Given the description of an element on the screen output the (x, y) to click on. 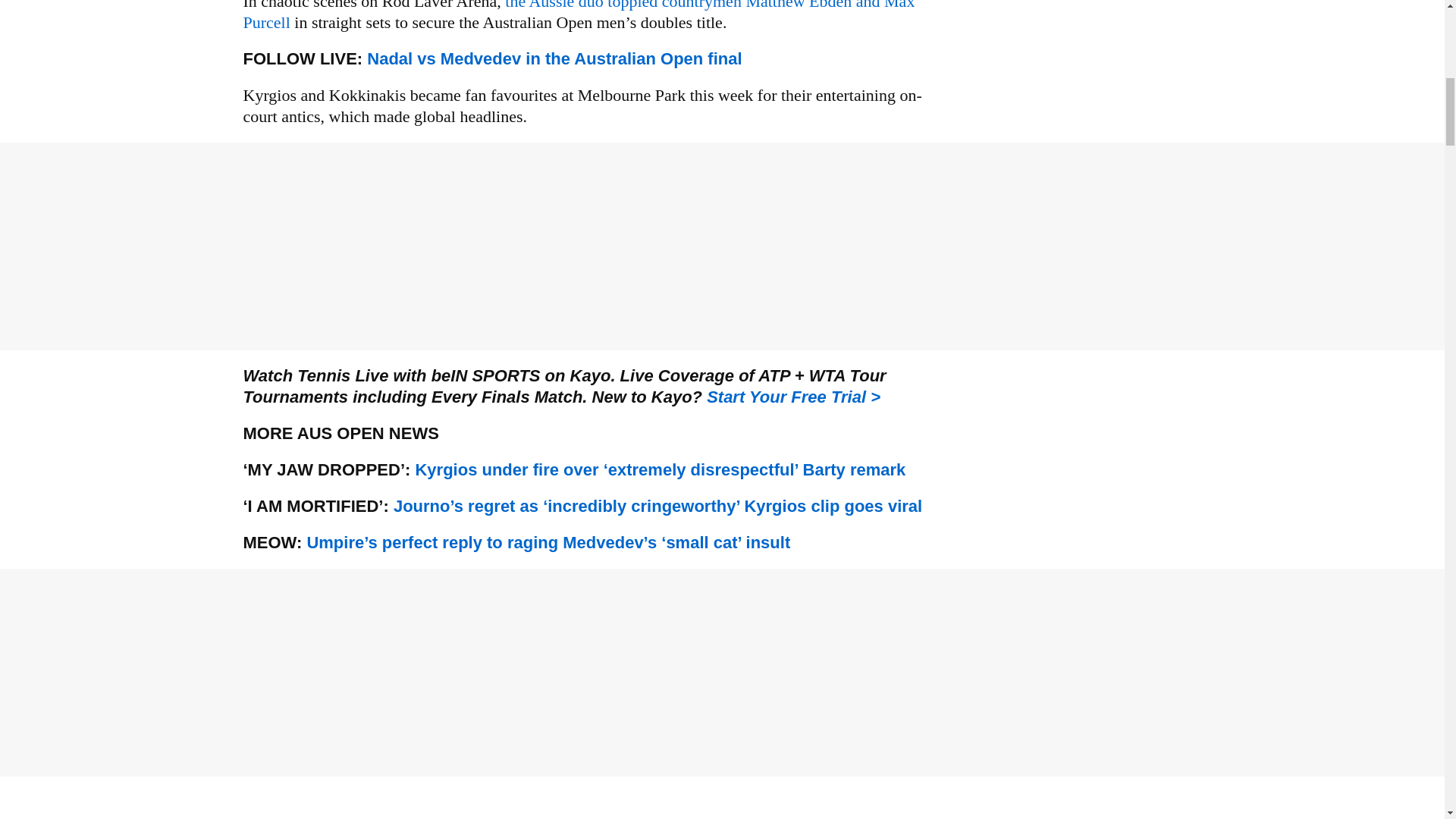
Nadal vs Medvedev in the Australian Open final (553, 58)
www.foxsports.com.au (553, 58)
www.foxsports.com.au (659, 469)
www.foxsports.com.au (547, 542)
www.foxsports.com.au (657, 505)
